Given the description of an element on the screen output the (x, y) to click on. 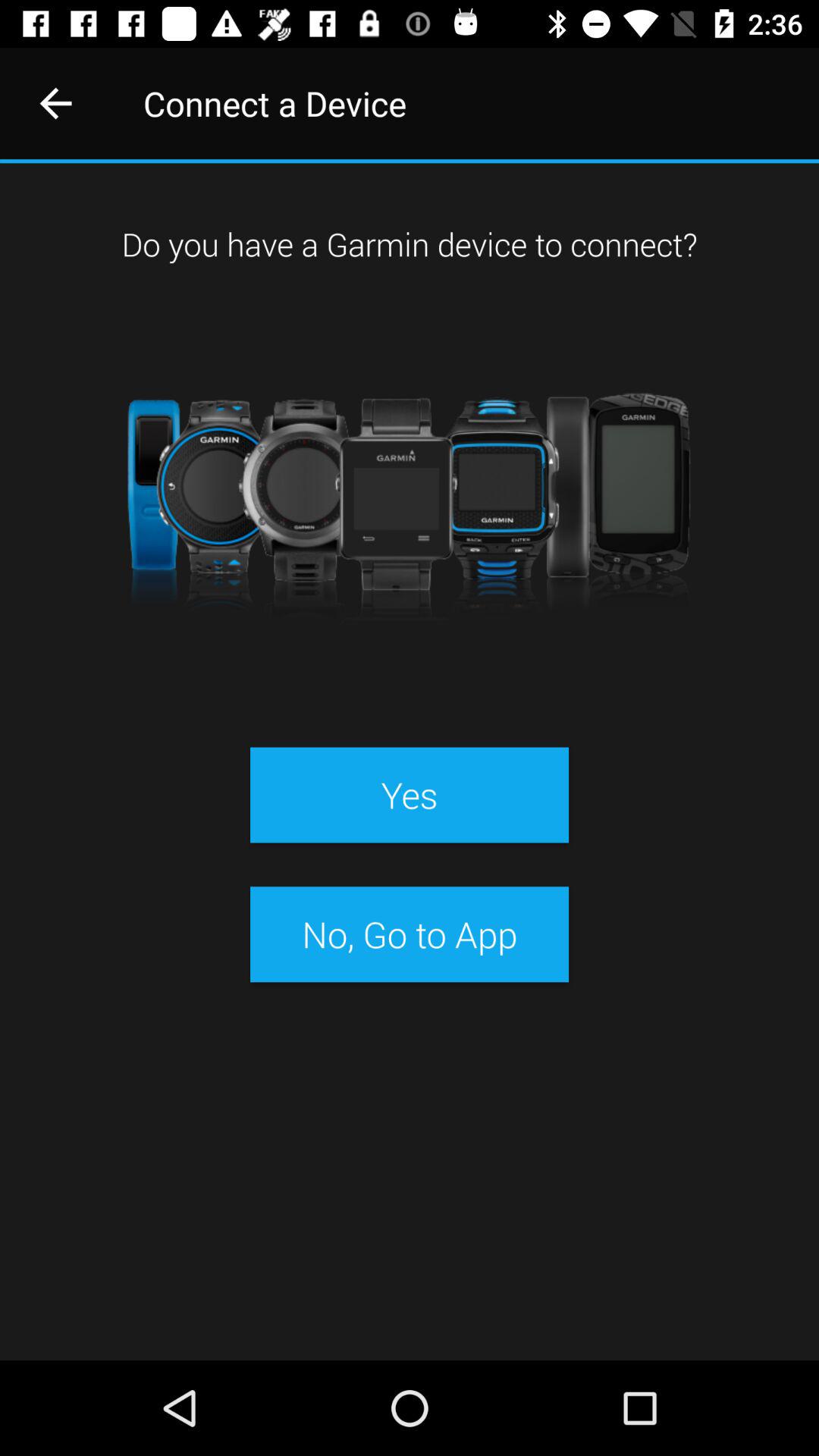
tap no go to (409, 934)
